Given the description of an element on the screen output the (x, y) to click on. 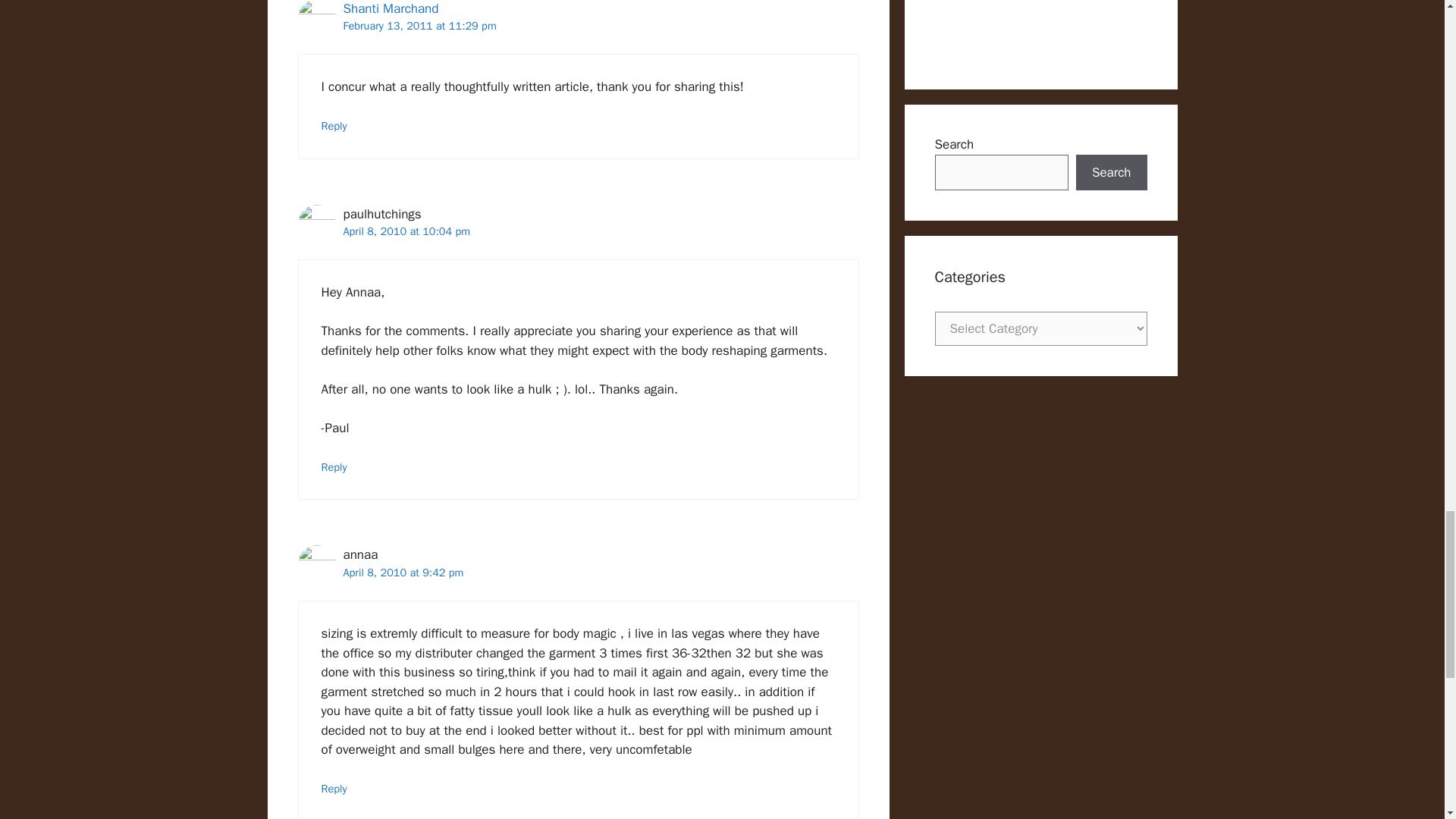
Reply (334, 788)
Reply (334, 125)
February 13, 2011 at 11:29 pm (419, 25)
Reply (334, 467)
April 8, 2010 at 10:04 pm (406, 231)
Shanti Marchand (390, 8)
April 8, 2010 at 9:42 pm (402, 572)
